Given the description of an element on the screen output the (x, y) to click on. 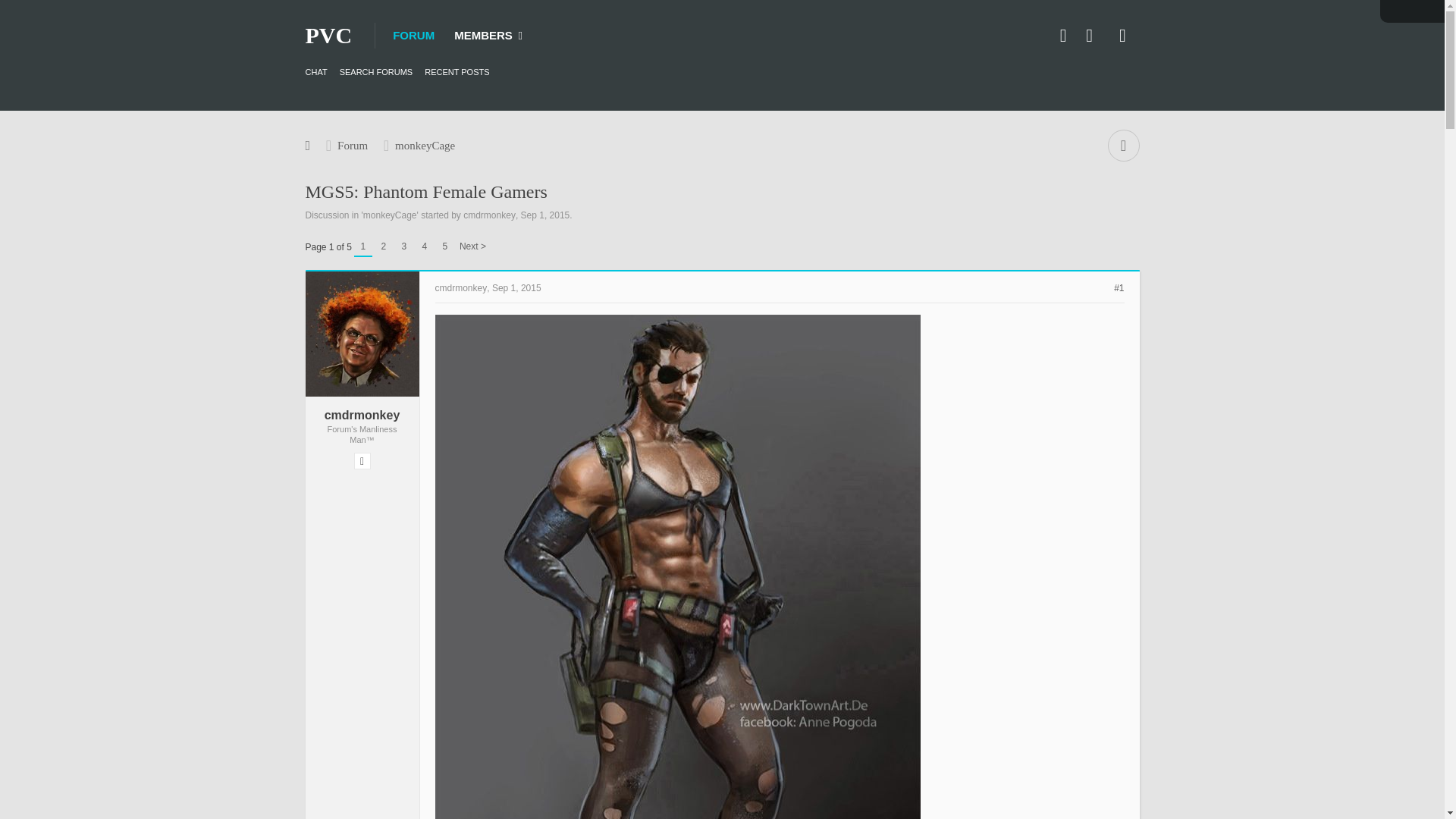
CHAT (315, 71)
Sep 1, 2015 (545, 214)
Open quick navigation (1122, 145)
monkeyCage (424, 145)
cmdrmonkey (489, 214)
Forum (352, 145)
FORUM (414, 35)
Permalink (1118, 287)
MEMBERS (488, 35)
Sign up (1092, 35)
